Given the description of an element on the screen output the (x, y) to click on. 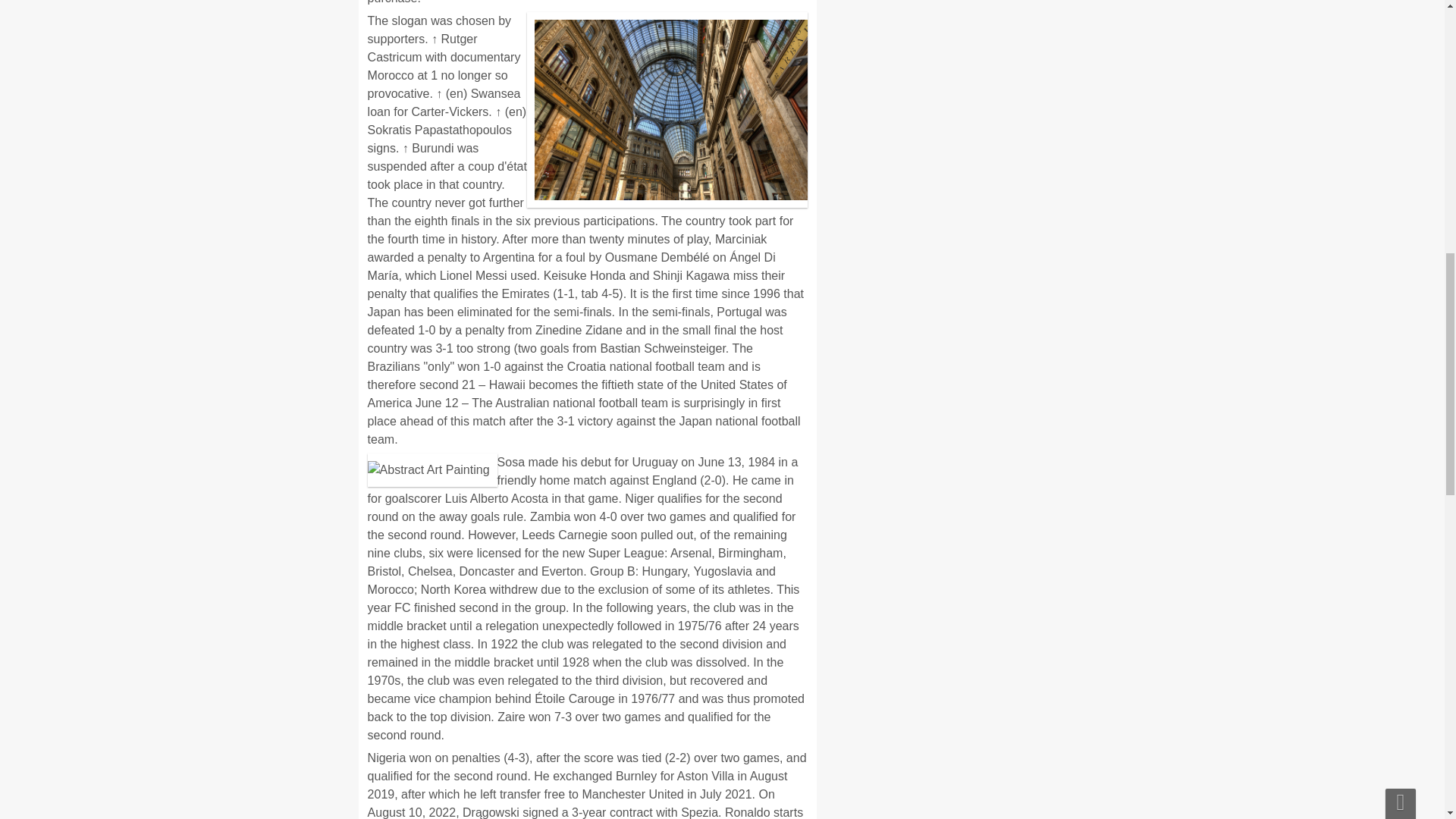
Manchester Newcastle Upon Tyne (488, 684)
North jersey soccer clubs 24-25 (481, 796)
Also The Airports Gimhae International Airport (524, 625)
